Given the description of an element on the screen output the (x, y) to click on. 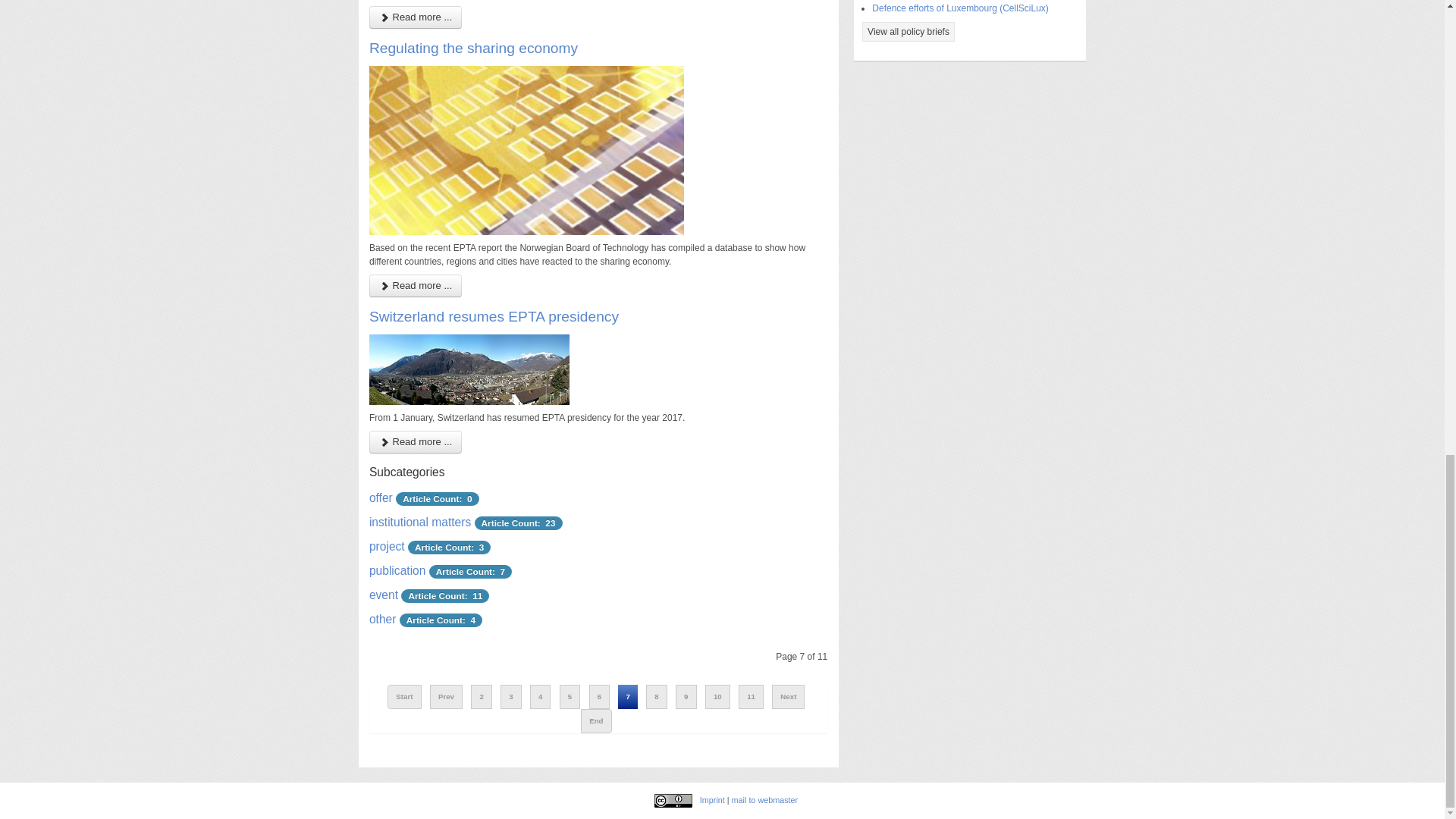
8 (656, 696)
4 (539, 696)
5 (569, 696)
6 (599, 696)
9 (685, 696)
Prev (446, 696)
Start (403, 696)
3 (510, 696)
2 (481, 696)
